Given the description of an element on the screen output the (x, y) to click on. 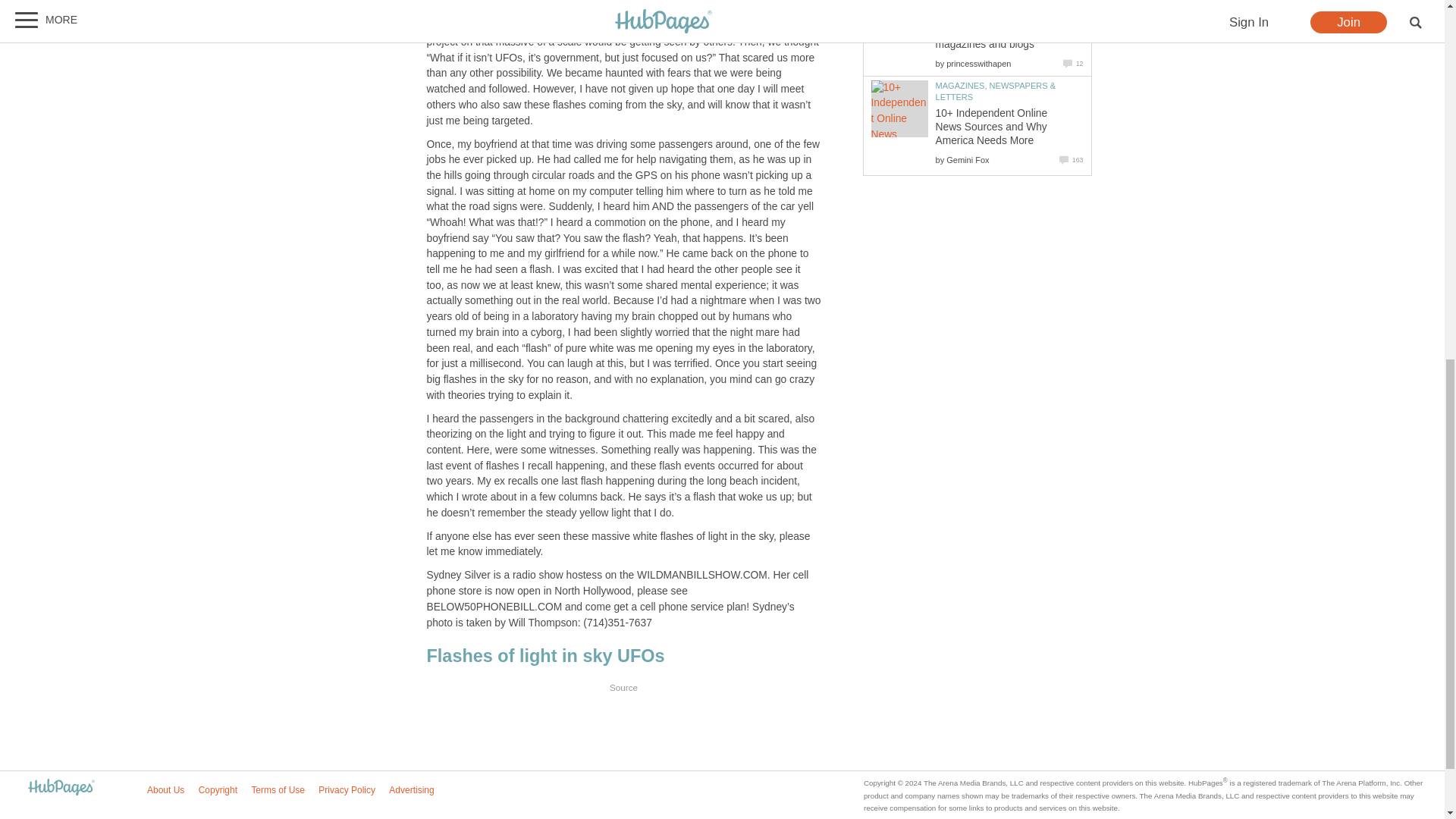
To the HubPages home page (60, 787)
